Given the description of an element on the screen output the (x, y) to click on. 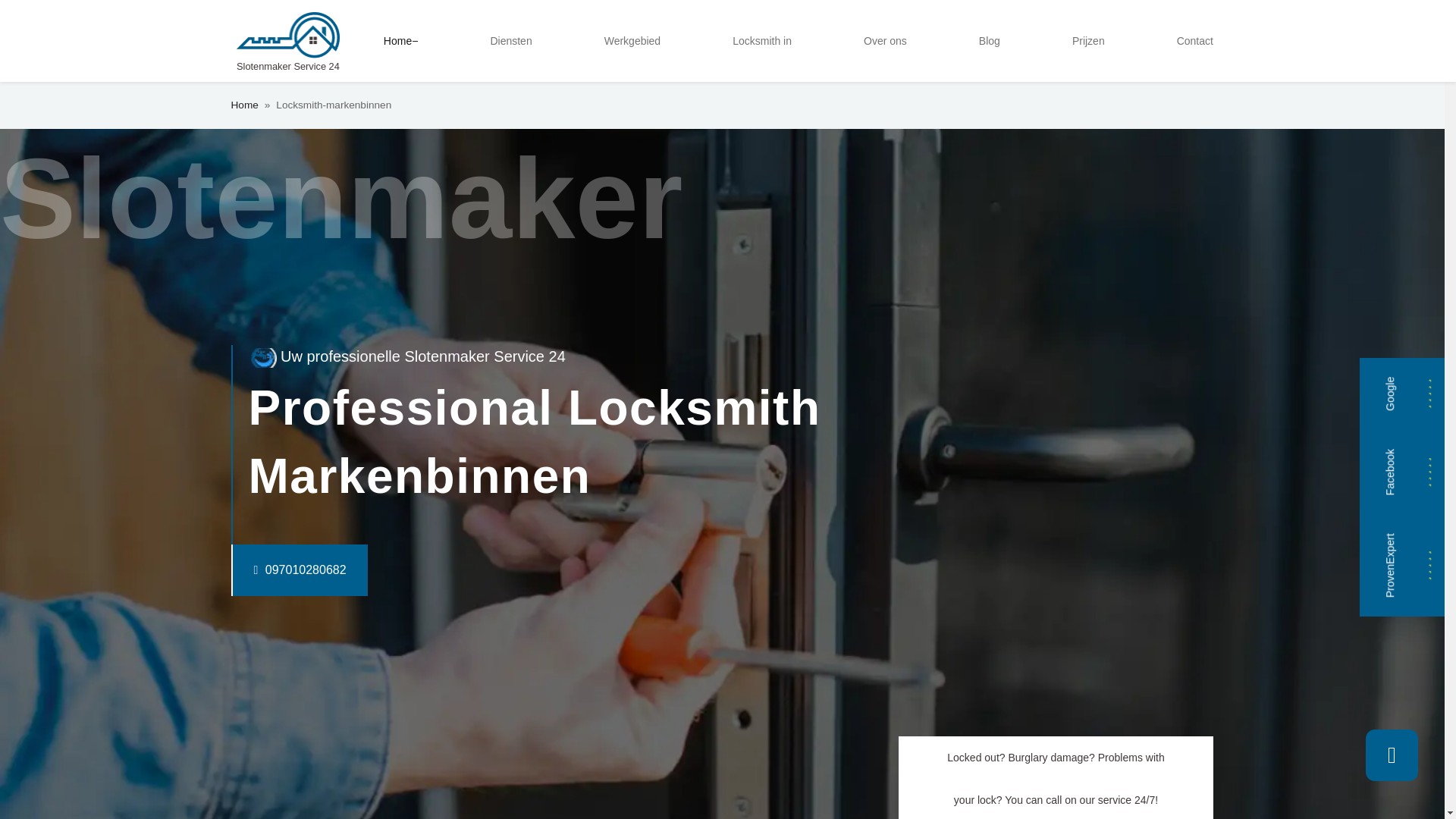
Over ons (884, 40)
Blog (989, 40)
Locksmith in (761, 40)
Diensten (510, 40)
Home (401, 40)
Home (243, 105)
Prijzen (1087, 40)
097010280682 (268, 570)
Slotenmaker Service 24 (287, 40)
Contact (1195, 40)
Werkgebied (632, 40)
